Given the description of an element on the screen output the (x, y) to click on. 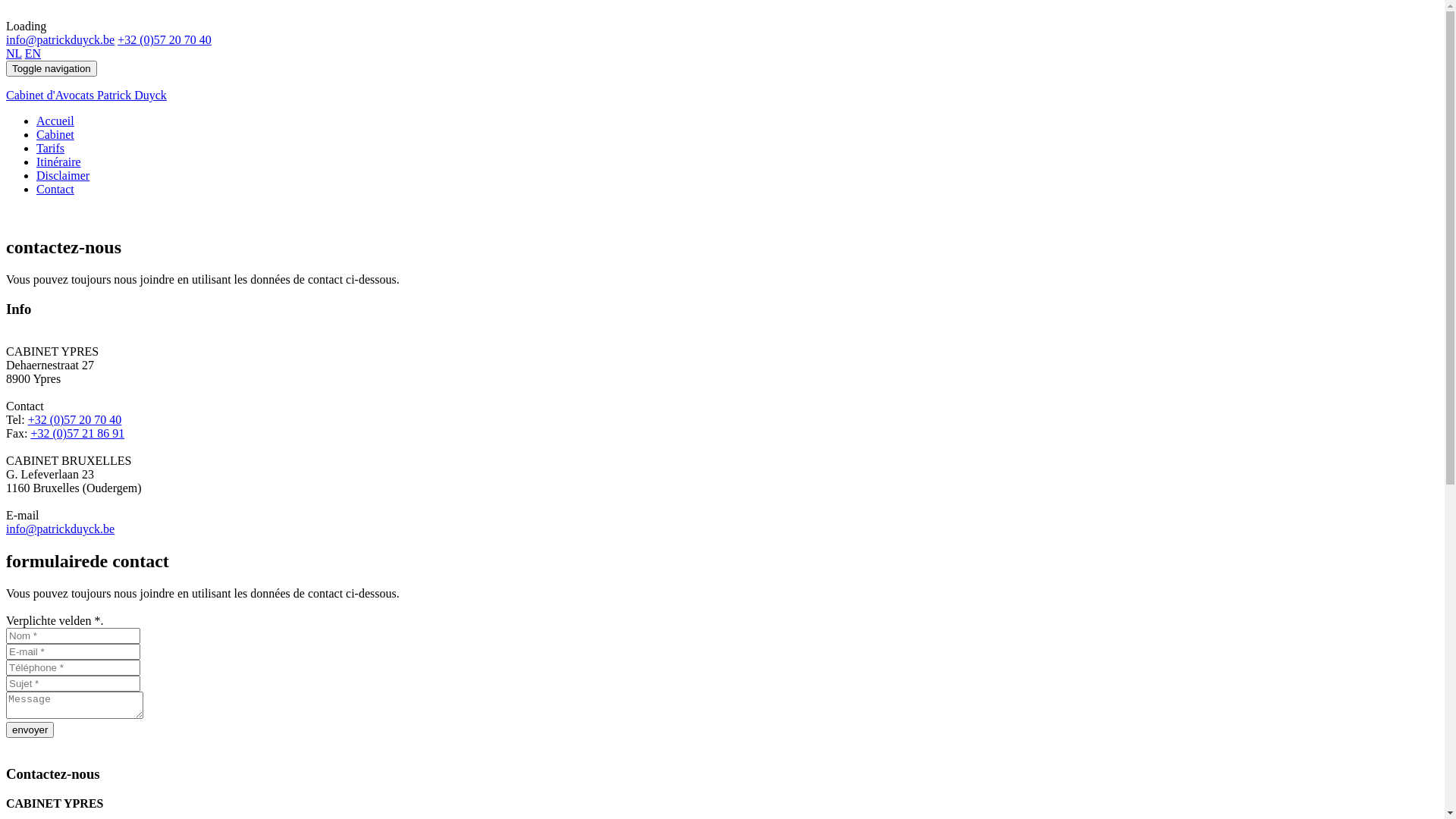
+32 (0)57 21 86 91 Element type: text (77, 432)
+32 (0)57 20 70 40 Element type: text (164, 39)
Cabinet d'Avocats Patrick Duyck Element type: text (722, 108)
EN Element type: text (32, 53)
Toggle navigation Element type: text (51, 68)
Disclaimer Element type: text (62, 175)
envoyer Element type: text (29, 729)
+32 (0)57 20 70 40 Element type: text (75, 419)
Accueil Element type: text (55, 120)
info@patrickduyck.be Element type: text (60, 39)
Contact Element type: text (55, 188)
info@patrickduyck.be Element type: text (60, 528)
NL Element type: text (13, 53)
Tarifs Element type: text (50, 147)
Cabinet Element type: text (55, 134)
